Given the description of an element on the screen output the (x, y) to click on. 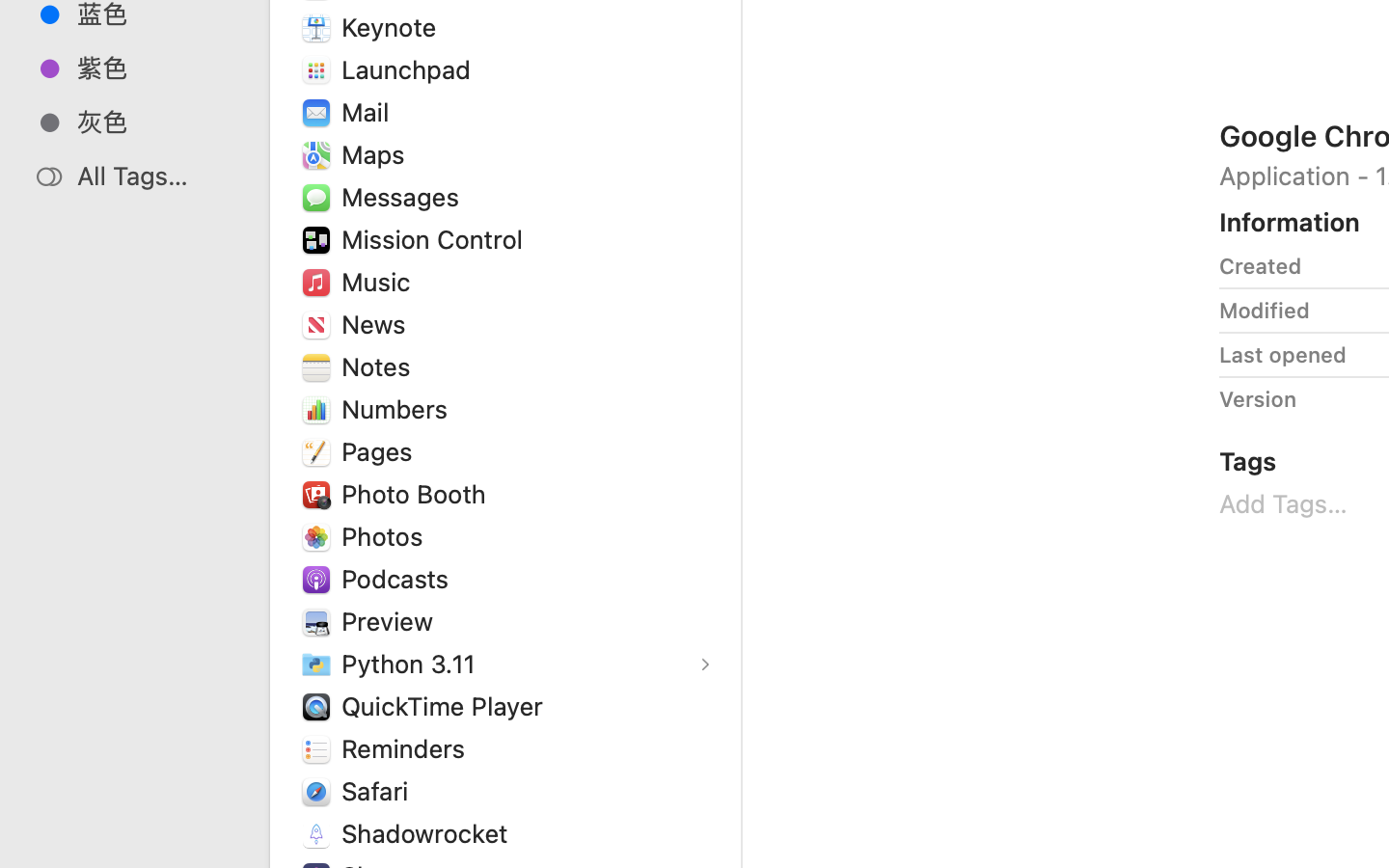
All Tags… Element type: AXStaticText (155, 175)
Tags… Element type: AXStaticText (41, 852)
Reminders Element type: AXTextField (407, 747)
Launchpad Element type: AXTextField (410, 69)
Shadowrocket Element type: AXTextField (428, 832)
